Given the description of an element on the screen output the (x, y) to click on. 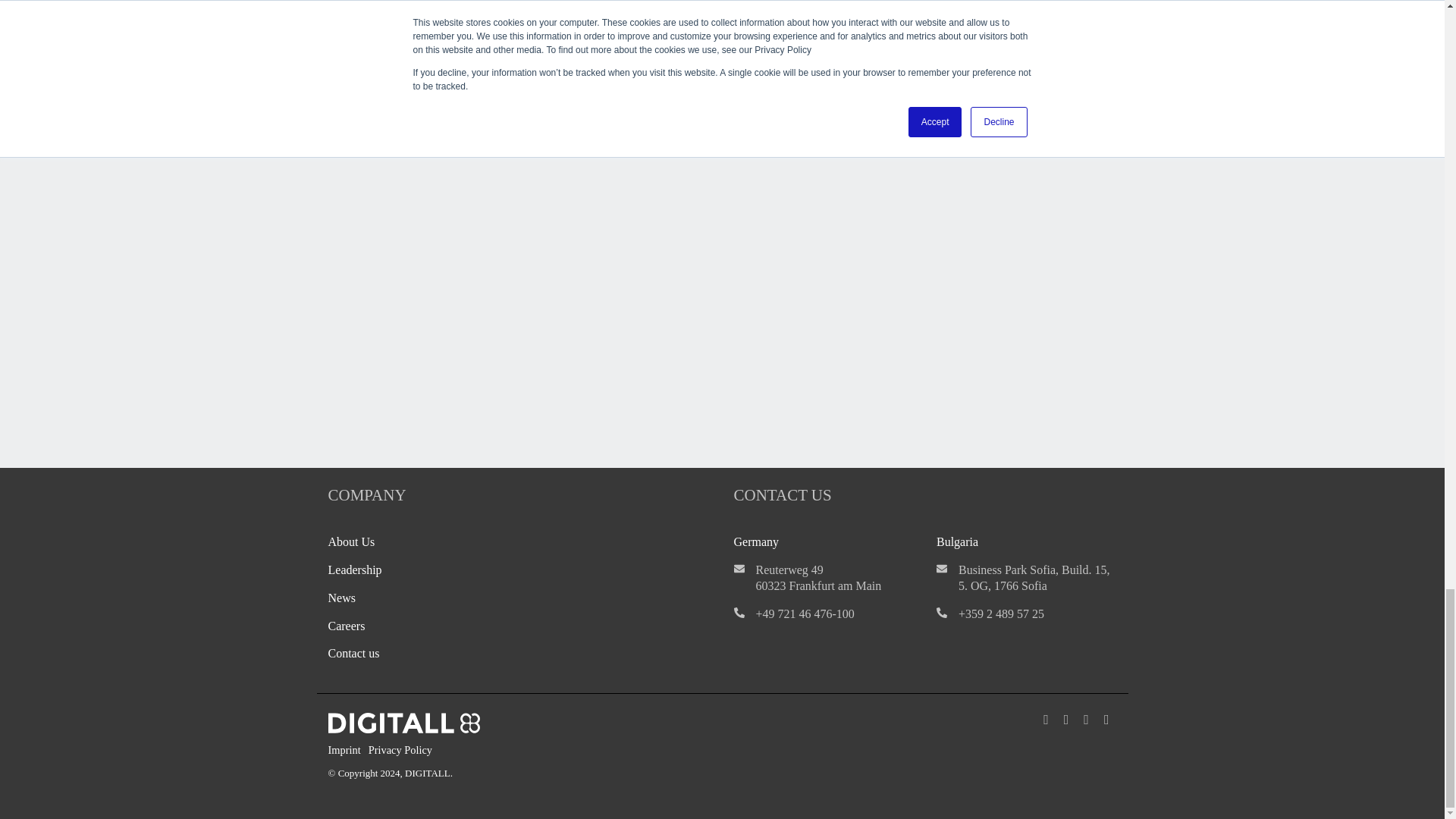
About Us (350, 541)
Leadership (354, 569)
Contact us (352, 653)
Careers (346, 625)
Privacy Policy (403, 750)
Submit (394, 332)
News (341, 597)
Imprint (347, 750)
